Given the description of an element on the screen output the (x, y) to click on. 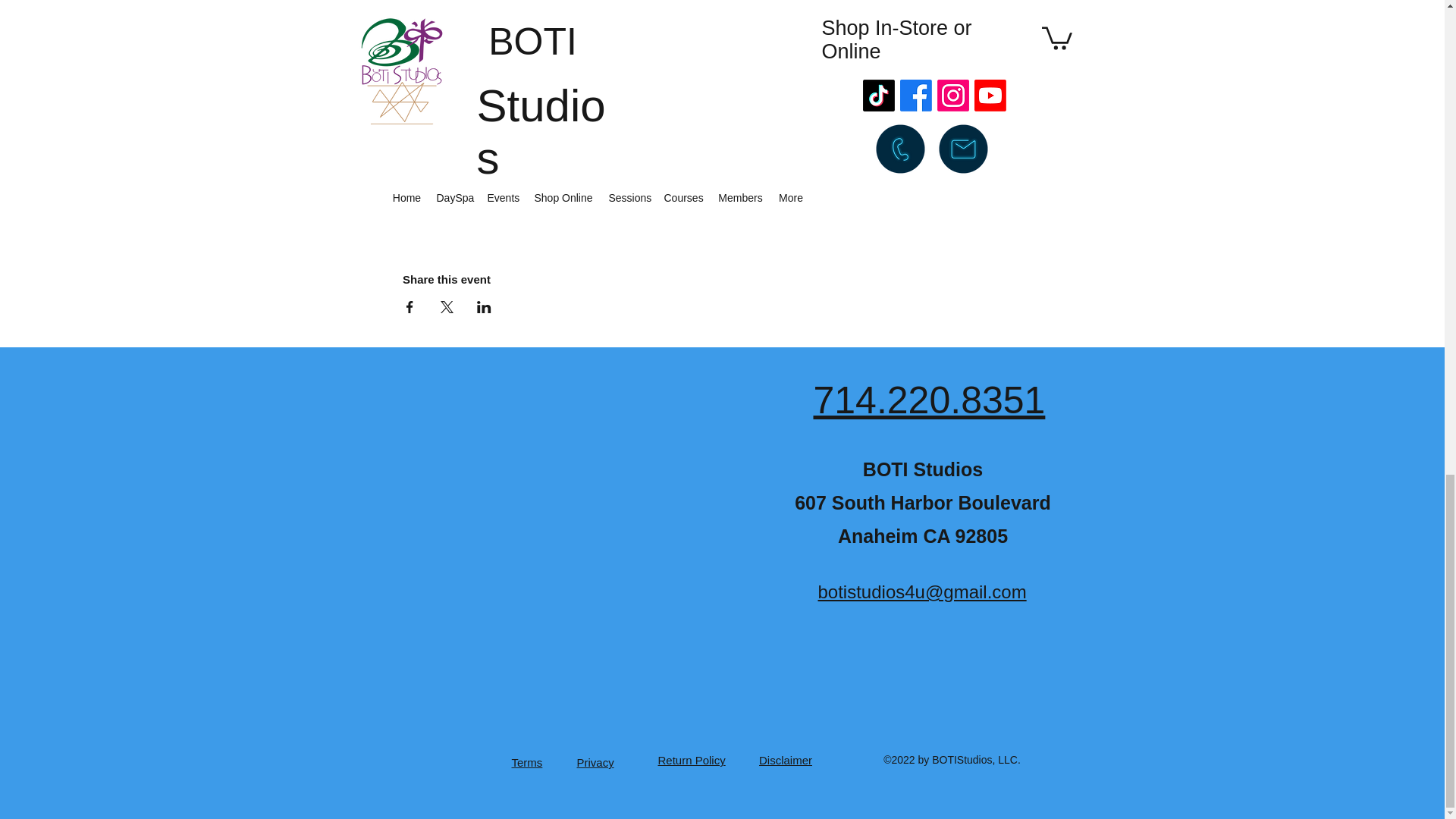
Disclaimer (785, 759)
Privacy (594, 762)
Terms (526, 762)
714.220.8351 (928, 400)
Return Policy (691, 759)
